Given the description of an element on the screen output the (x, y) to click on. 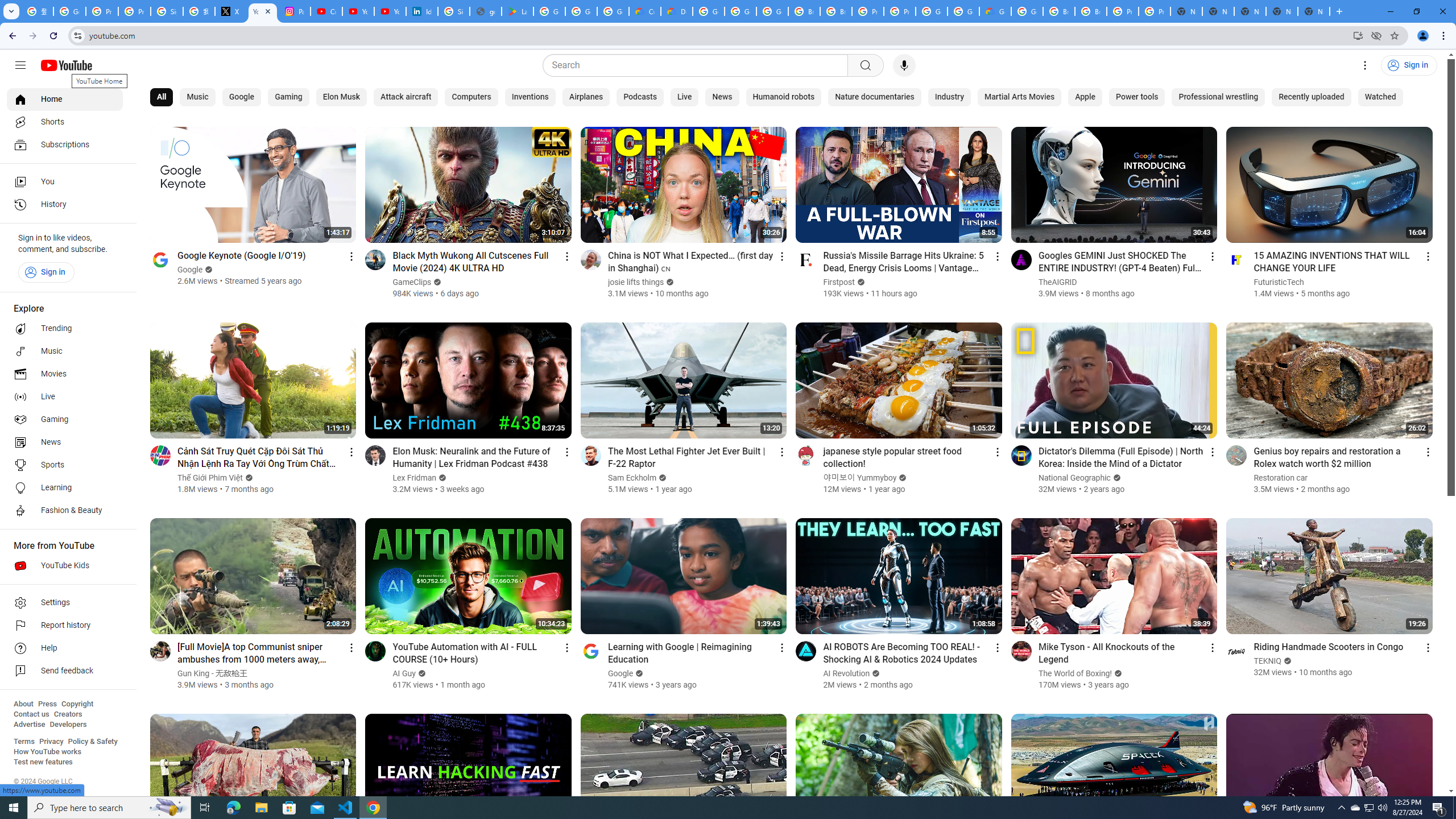
Privacy Help Center - Policies Help (134, 11)
Policy & Safety (91, 741)
josie lifts things (636, 282)
X (230, 11)
Search with your voice (903, 65)
Customer Care | Google Cloud (644, 11)
Go to channel (1236, 650)
Google Cloud Platform (708, 11)
Advertise (29, 724)
